Given the description of an element on the screen output the (x, y) to click on. 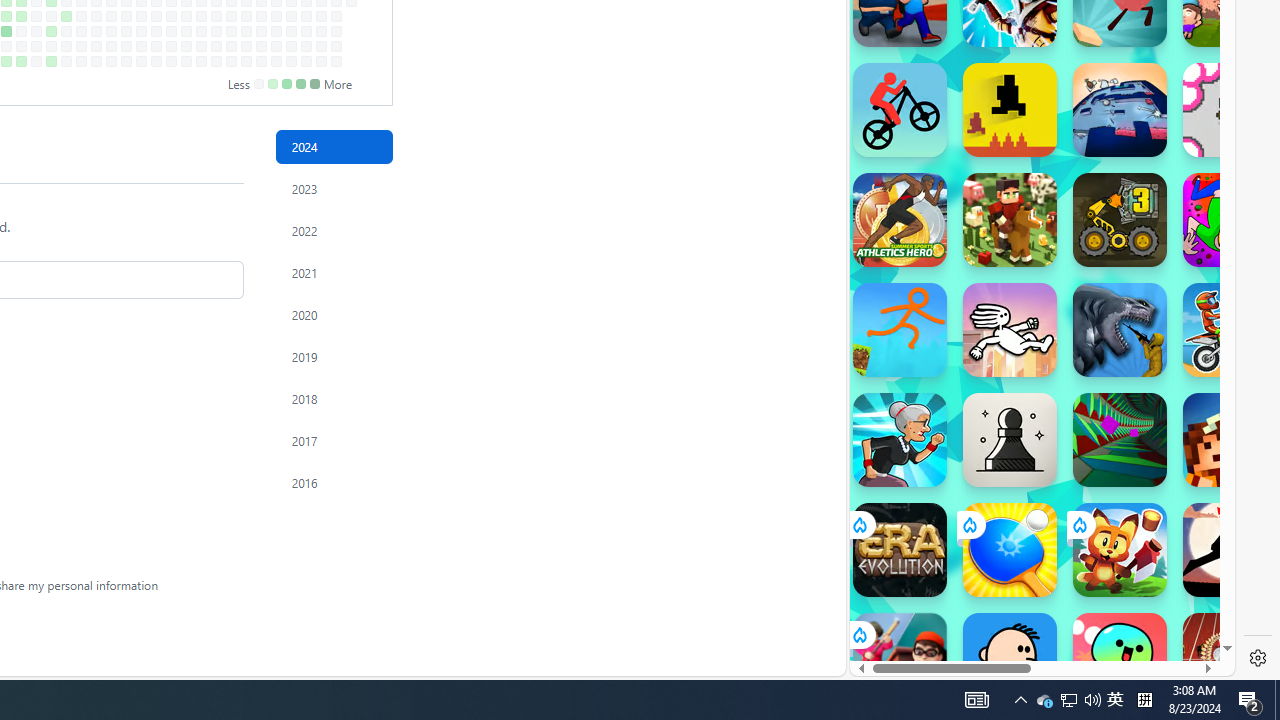
Fox Island Builder Fox Island Builder (1119, 549)
No contributions on August 1st. (20, 30)
Blumgi Slime (1119, 659)
Stickman Bike Stickman Bike (899, 109)
Ping Pong Go! Ping Pong Go! (1009, 549)
Era: Evolution (899, 549)
Apple Knight: Farmers Market Apple Knight: Farmers Market (1009, 219)
No contributions on November 29th. (276, 46)
Athletics Hero (899, 219)
No contributions on August 10th. (36, 61)
Search results from poki.com (1005, 59)
No contributions on September 14th. (111, 61)
Apple Knight: Farmers Market (1009, 219)
SUBWAY SURFERS - Play Online for Free! | Poki (1034, 624)
